Given the description of an element on the screen output the (x, y) to click on. 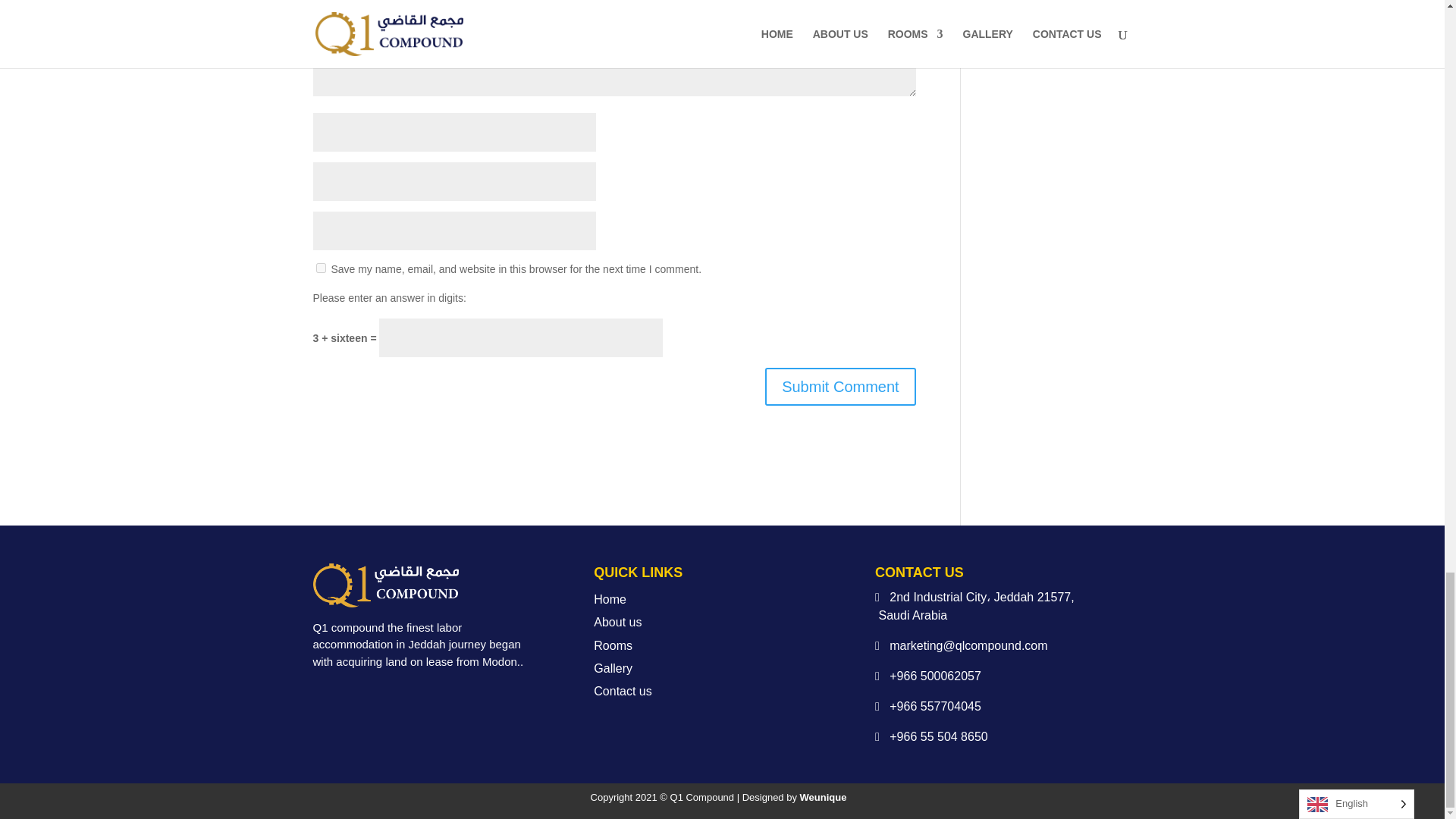
Submit Comment (840, 386)
Home (610, 599)
Official-png-2White (385, 585)
Contact us (622, 690)
Submit Comment (840, 386)
yes (319, 267)
Weunique (823, 797)
About us (618, 621)
Rooms (612, 645)
Gallery (612, 667)
